Given the description of an element on the screen output the (x, y) to click on. 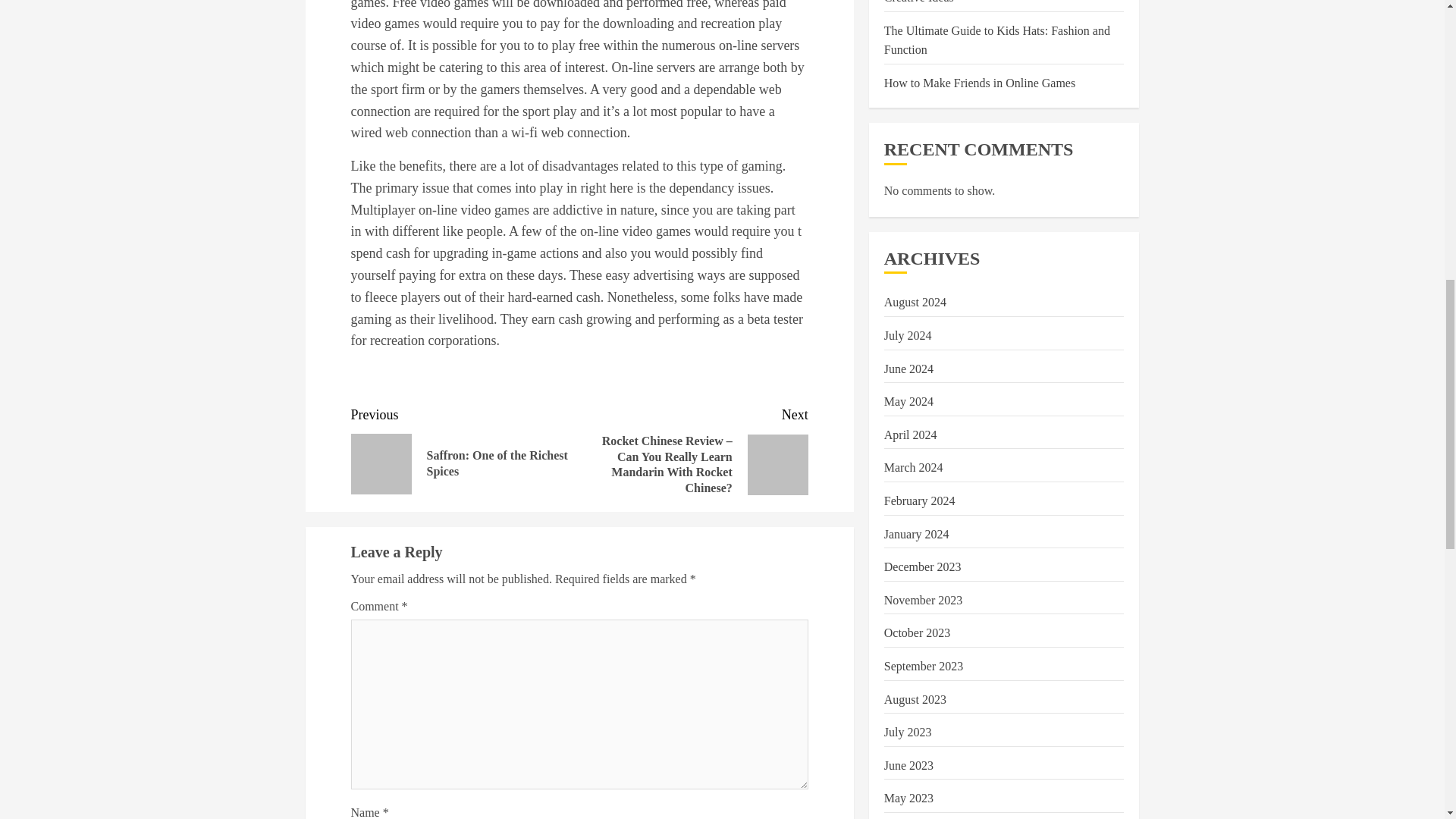
December 2023 (464, 449)
September 2023 (921, 312)
August 2024 (922, 411)
February 2024 (914, 47)
October 2023 (919, 246)
January 2024 (916, 377)
May 2024 (916, 279)
March 2024 (908, 146)
June 2024 (913, 213)
